Given the description of an element on the screen output the (x, y) to click on. 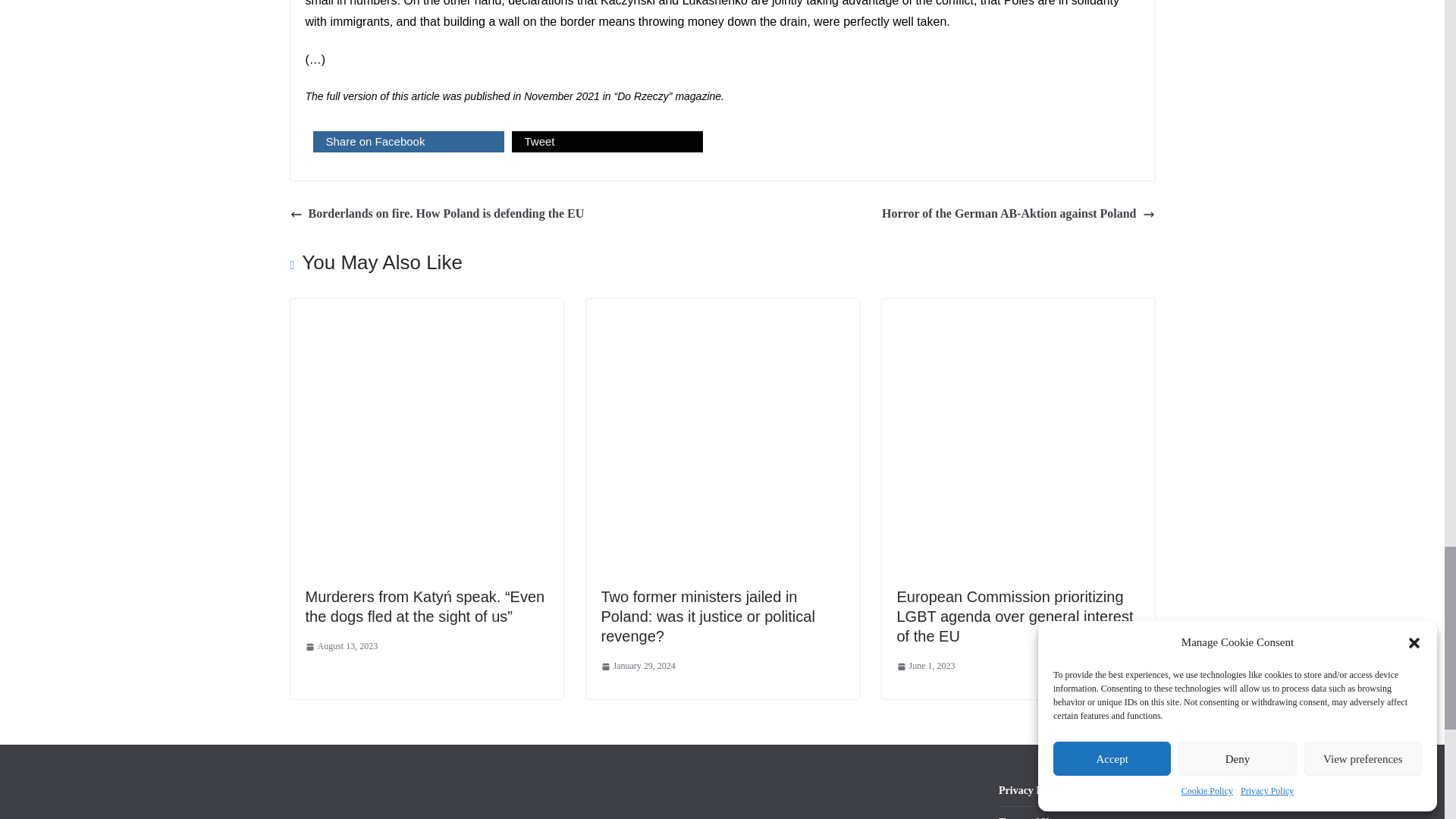
12:44 am (340, 646)
6:50 pm (925, 666)
8:30 pm (637, 666)
August 13, 2023 (340, 646)
Tweet (606, 141)
Share on Facebook (408, 141)
Borderlands on fire. How Poland is defending the EU (436, 214)
Horror of the German AB-Aktion against Poland (1018, 214)
